Given the description of an element on the screen output the (x, y) to click on. 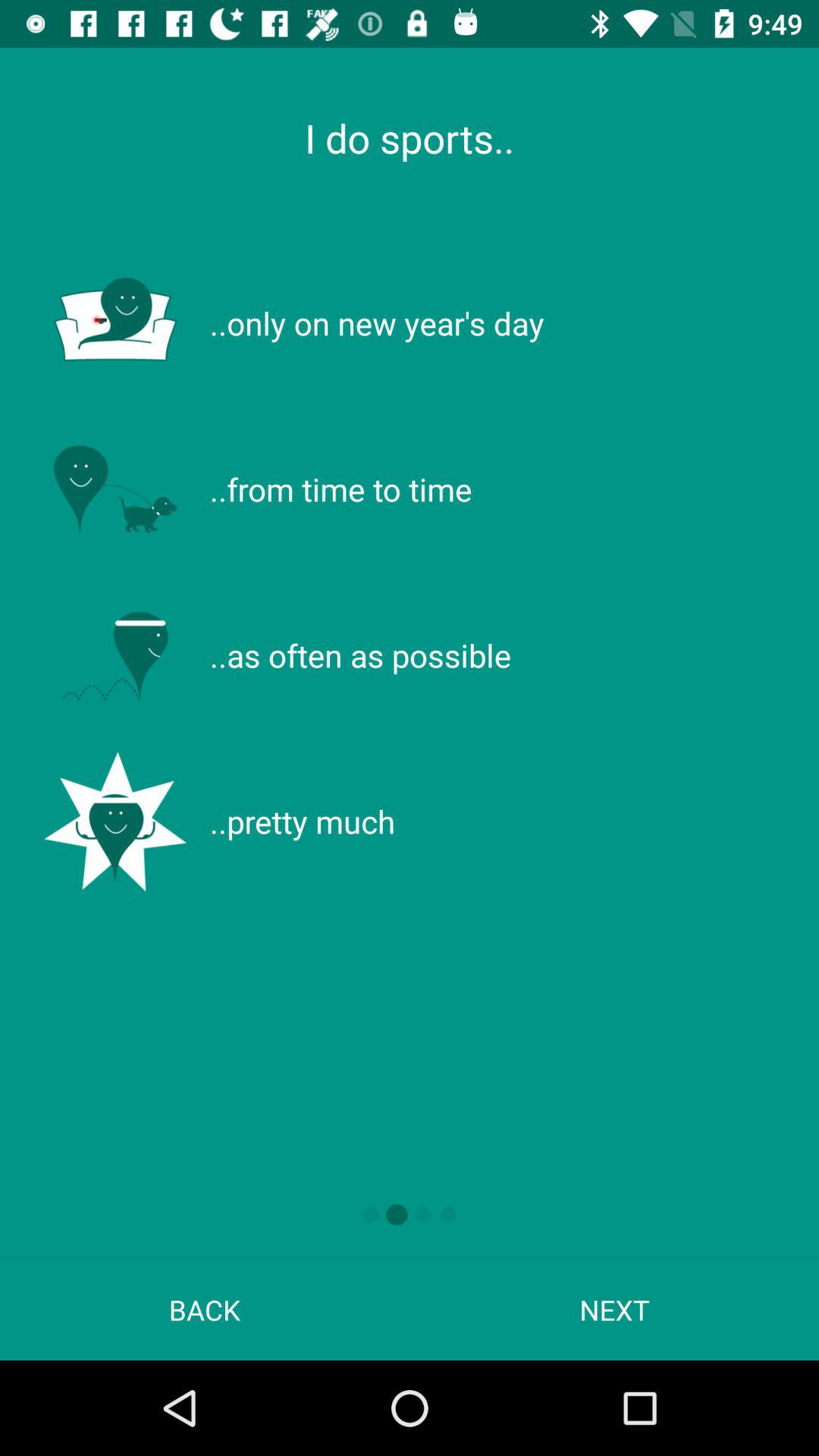
press the icon next to next icon (204, 1309)
